Given the description of an element on the screen output the (x, y) to click on. 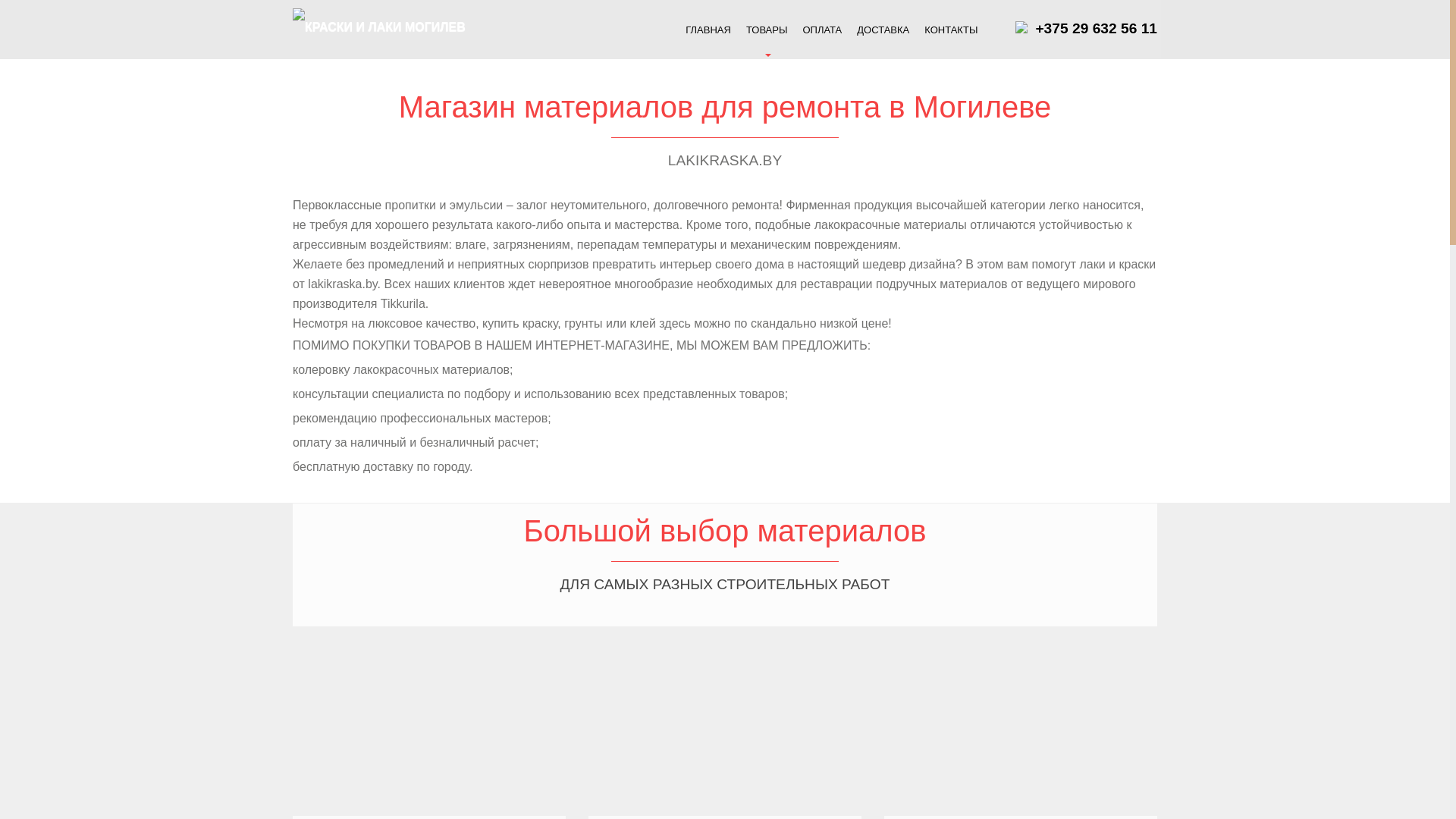
+375 29 632 56 11 Element type: text (1096, 28)
